Given the description of an element on the screen output the (x, y) to click on. 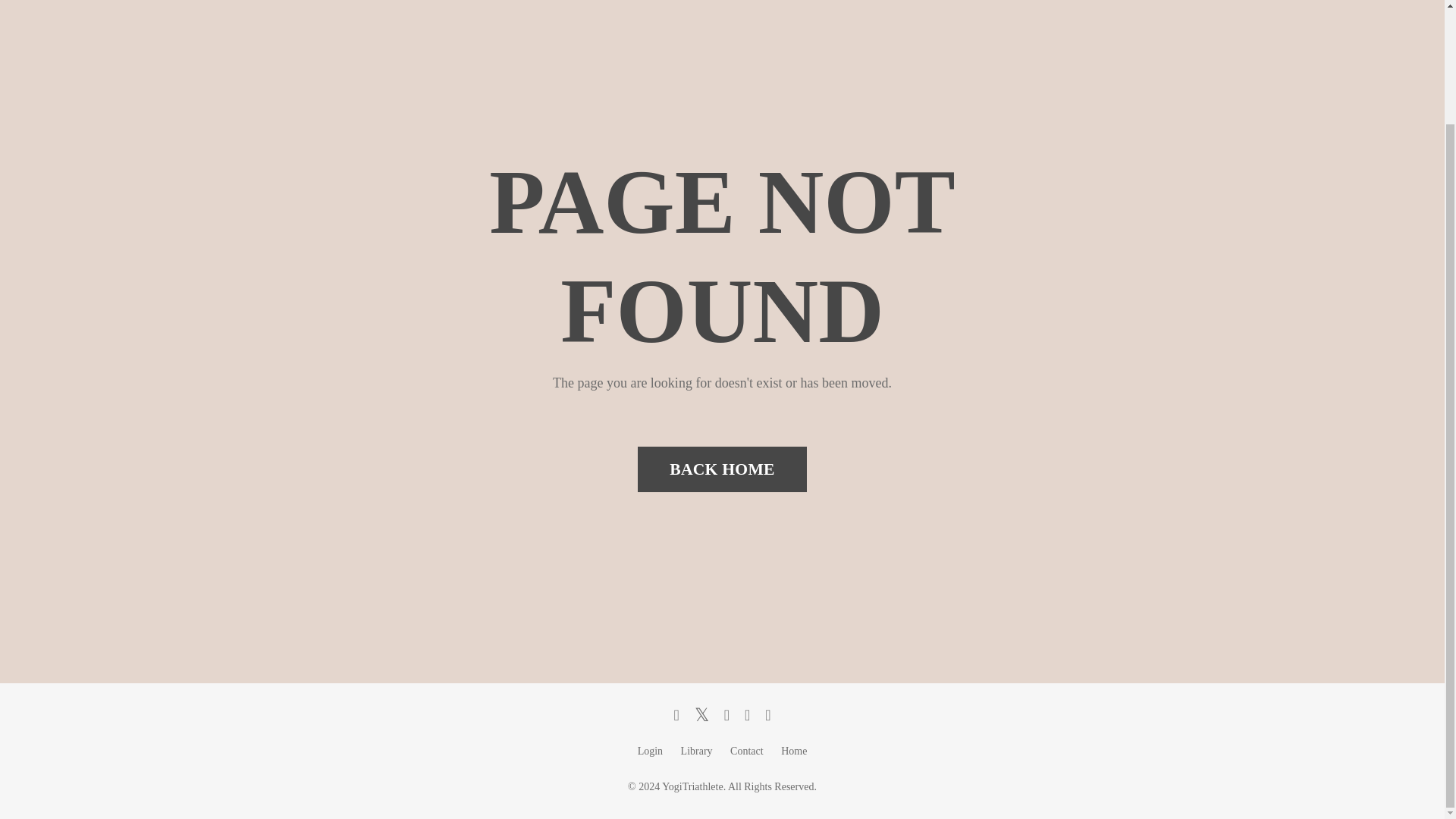
Home (793, 750)
Login (649, 750)
BACK HOME (721, 469)
Contact (746, 750)
Library (697, 750)
